Given the description of an element on the screen output the (x, y) to click on. 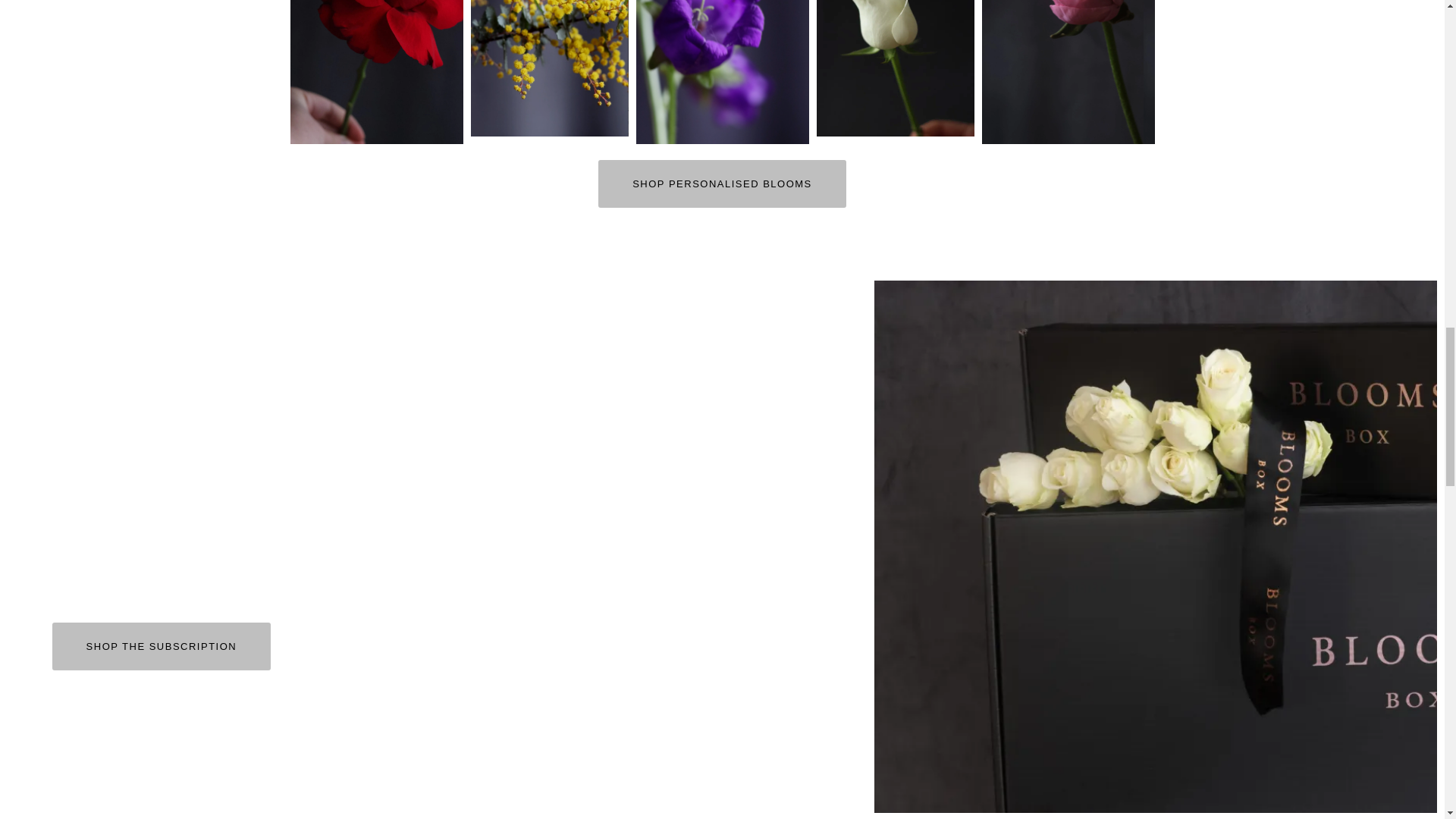
SHOP PERSONALISED BLOOMS (721, 183)
SHOP THE SUBSCRIPTION (161, 646)
